Given the description of an element on the screen output the (x, y) to click on. 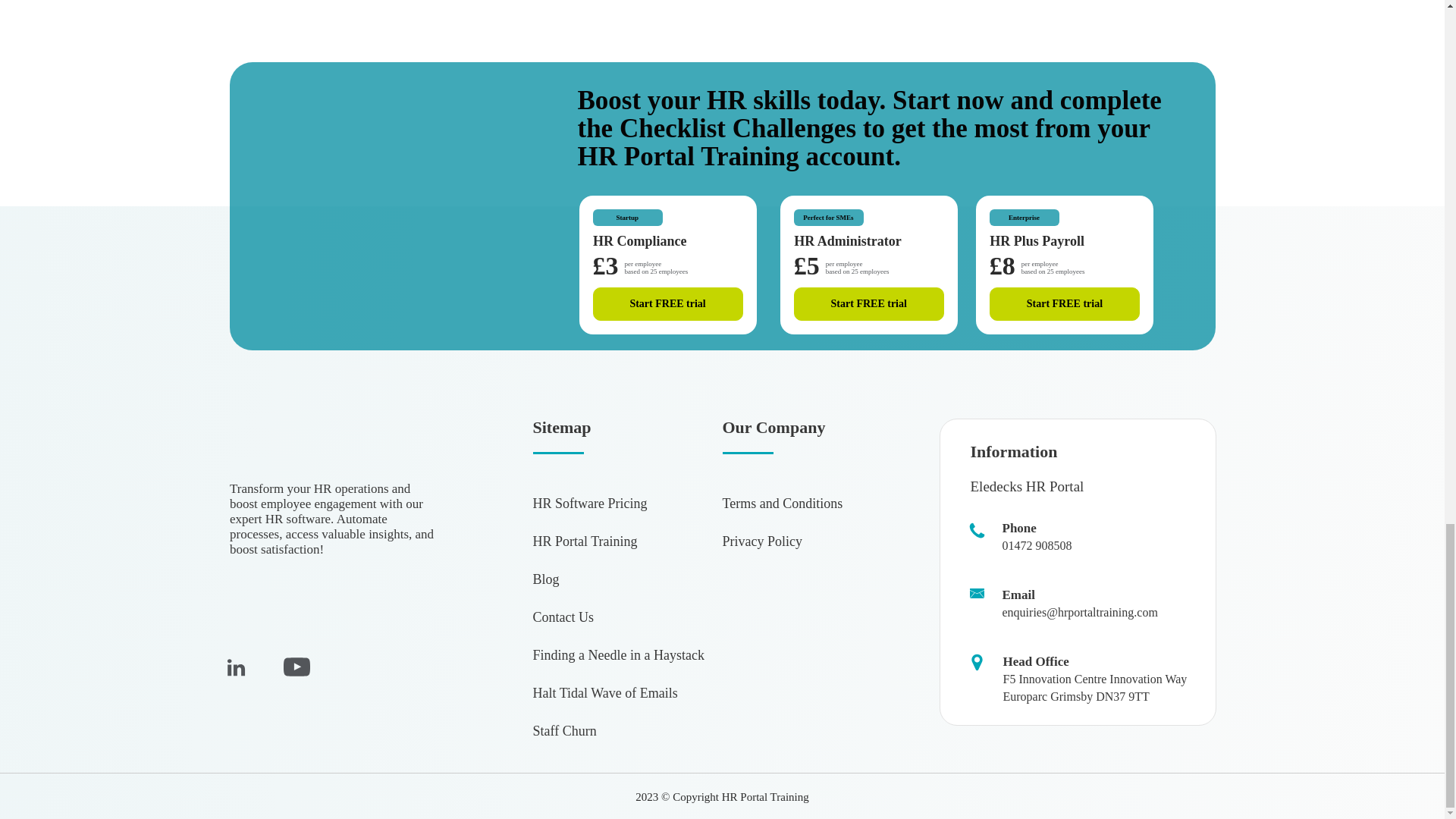
HR Software Pricing (589, 503)
Blog (545, 579)
Start FREE trial (868, 304)
Start FREE trial (667, 304)
Halt Tidal Wave of Emails (604, 692)
Start FREE trial (1065, 304)
Contact Us (563, 617)
HR Portal Training (584, 541)
Finding a Needle in a Haystack (617, 655)
